Given the description of an element on the screen output the (x, y) to click on. 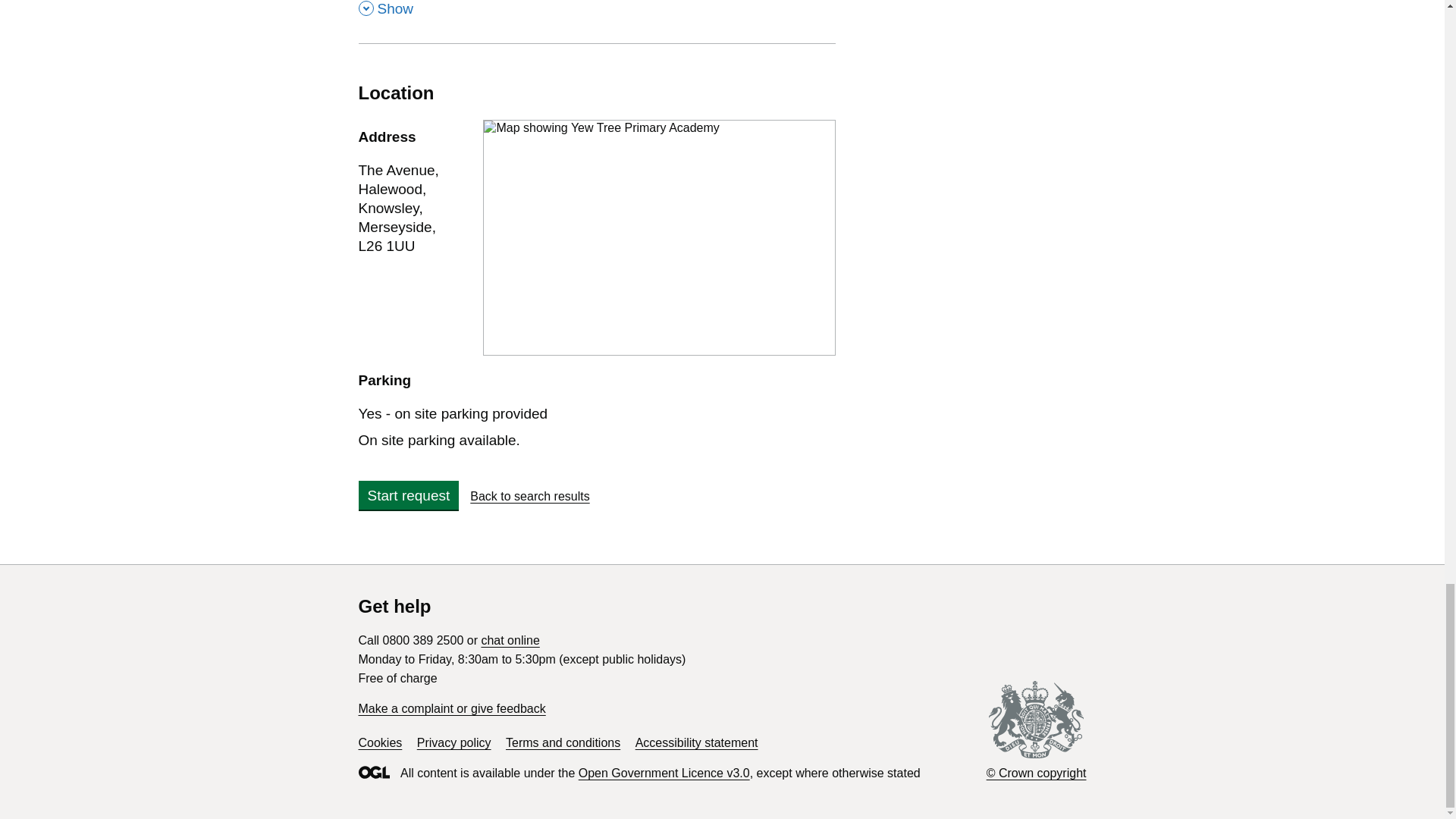
Make a complaint or give feedback (451, 707)
Accessibility statement (696, 742)
Terms and conditions (562, 742)
Open Government Licence v3.0 (663, 772)
Cookies (379, 742)
Start request (408, 494)
Back to search results (596, 21)
chat online (529, 496)
Privacy policy (509, 640)
